Given the description of an element on the screen output the (x, y) to click on. 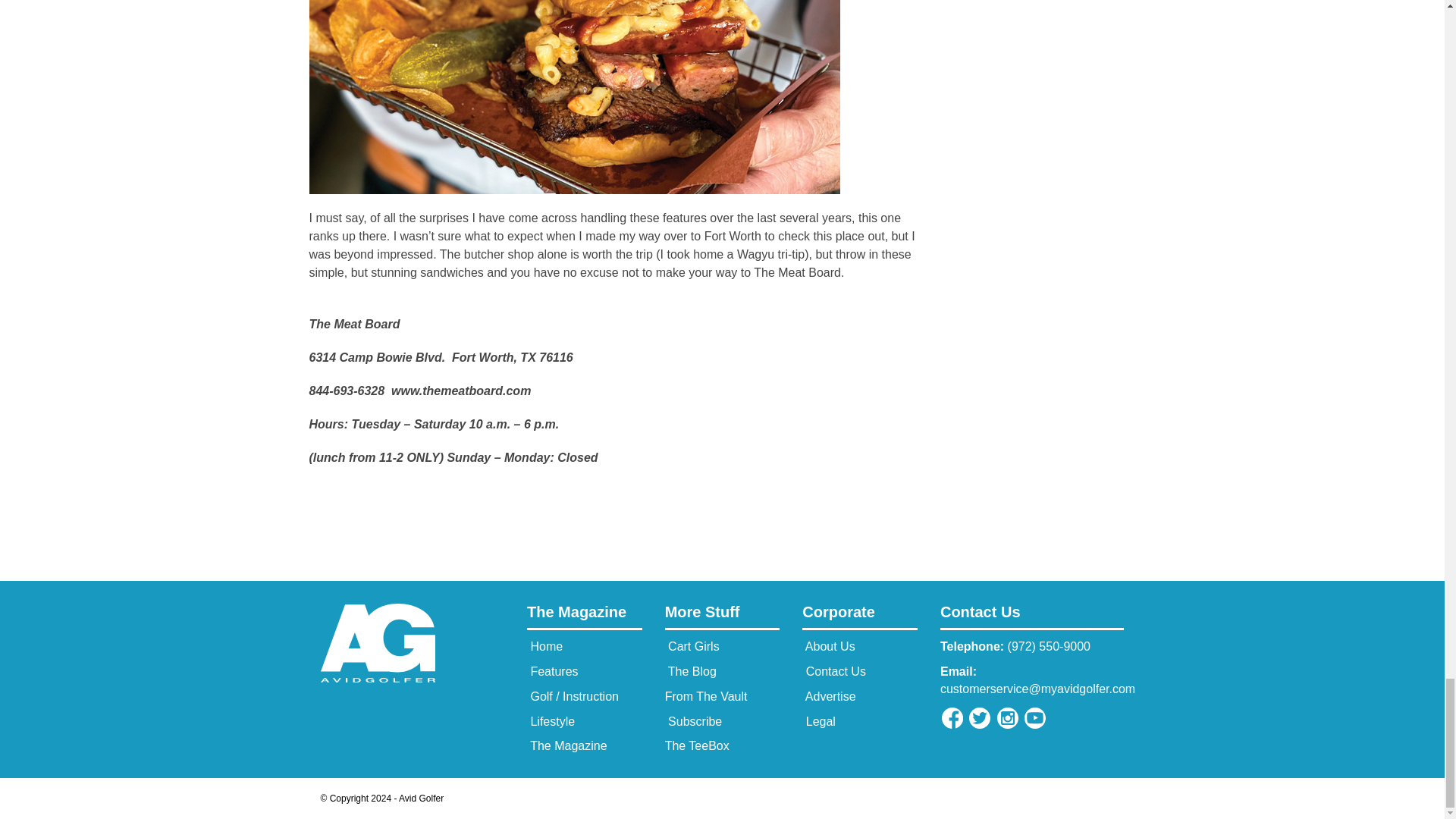
 The Magazine (567, 745)
 The Blog (690, 671)
 Features (552, 671)
 Lifestyle (551, 721)
 Cart Girls (692, 645)
The Magazine (584, 616)
 Home (544, 645)
